Given the description of an element on the screen output the (x, y) to click on. 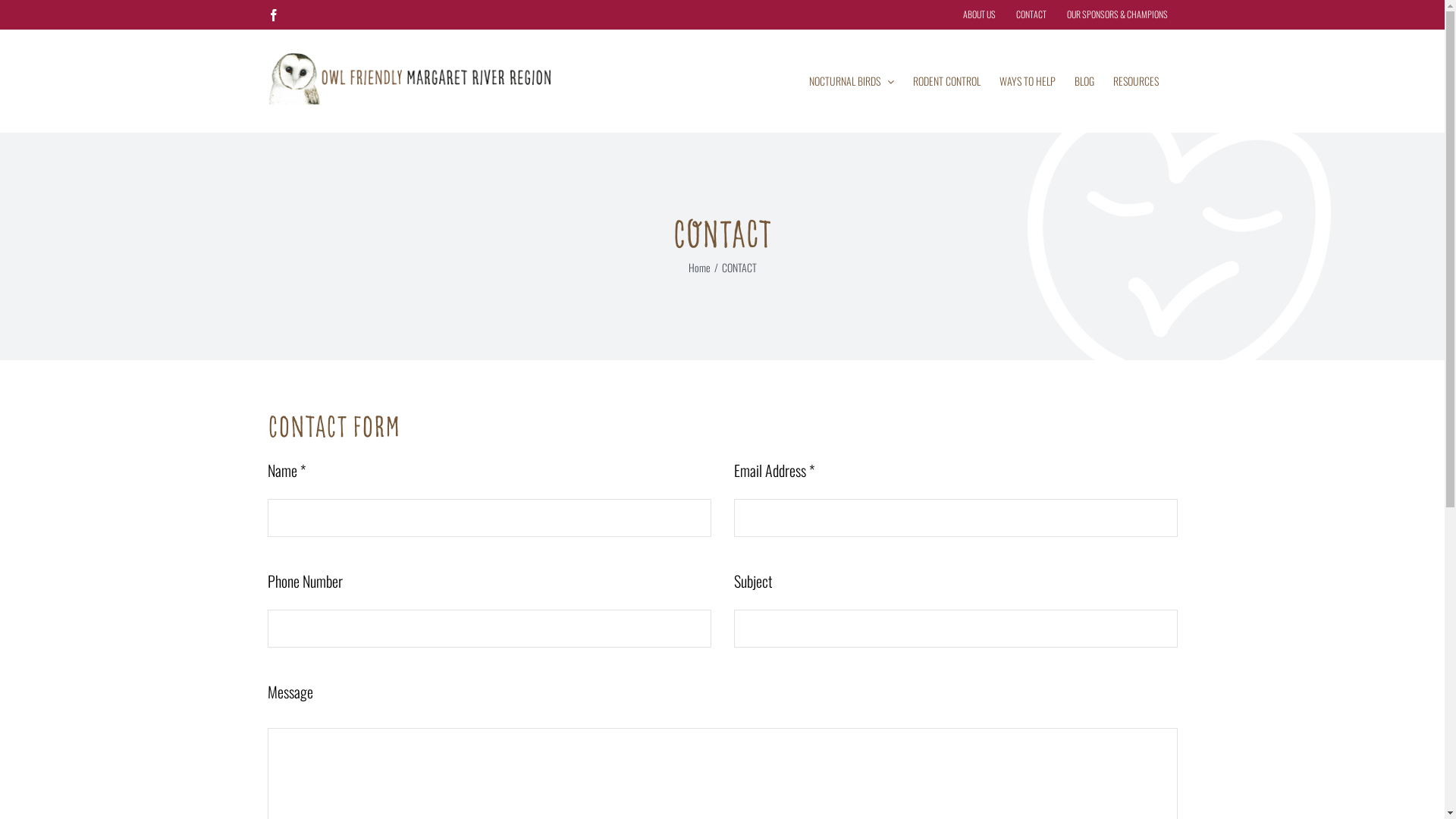
NOCTURNAL BIRDS Element type: text (850, 80)
ABOUT US Element type: text (978, 14)
RODENT CONTROL Element type: text (946, 80)
CONTACT Element type: text (1030, 14)
Facebook Element type: text (272, 15)
WAYS TO HELP Element type: text (1027, 80)
RESOURCES Element type: text (1135, 80)
Home Element type: text (699, 267)
BLOG Element type: text (1083, 80)
OUR SPONSORS & CHAMPIONS Element type: text (1117, 14)
